Given the description of an element on the screen output the (x, y) to click on. 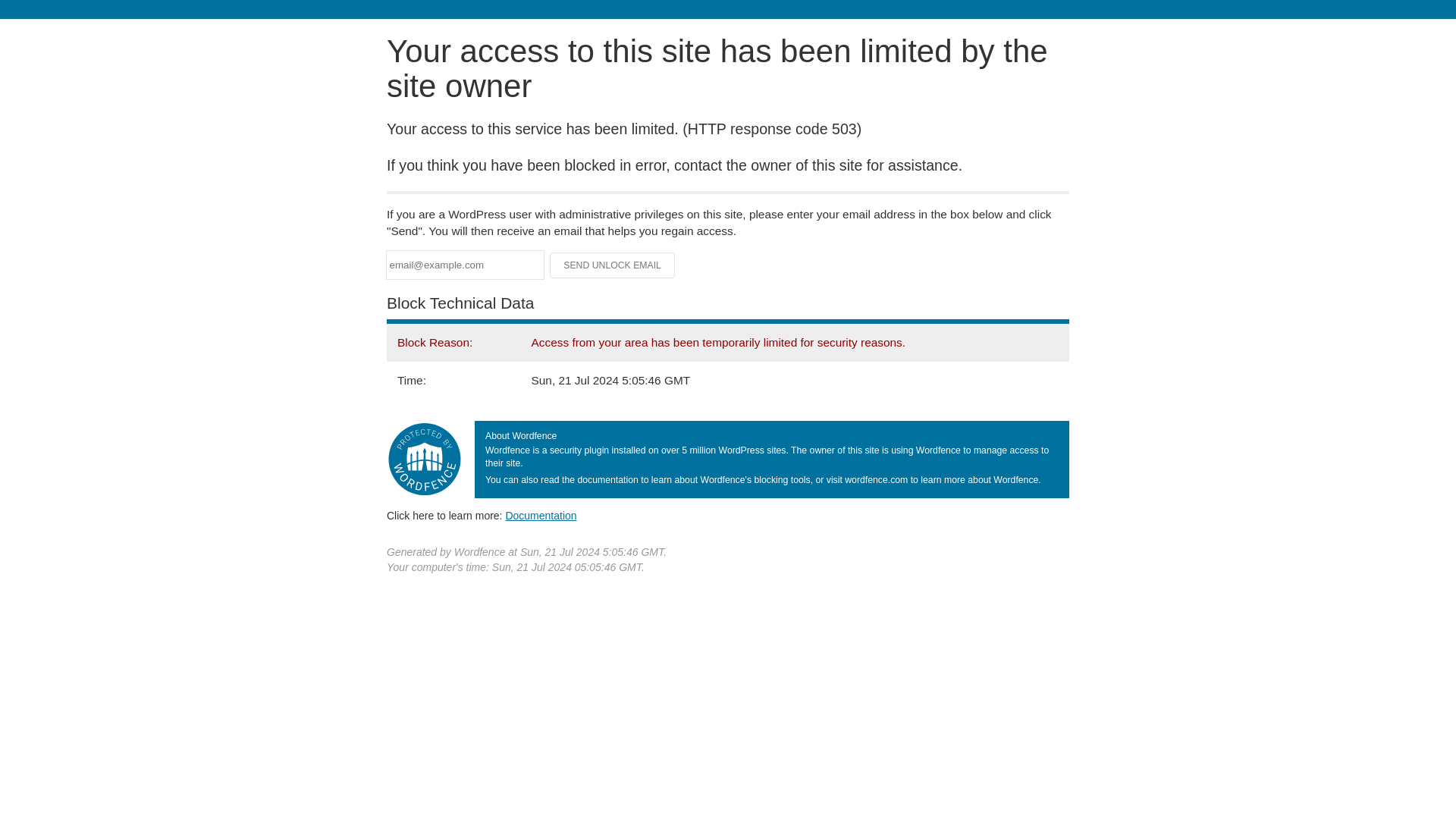
Documentation (540, 515)
Send Unlock Email (612, 265)
Send Unlock Email (612, 265)
